Given the description of an element on the screen output the (x, y) to click on. 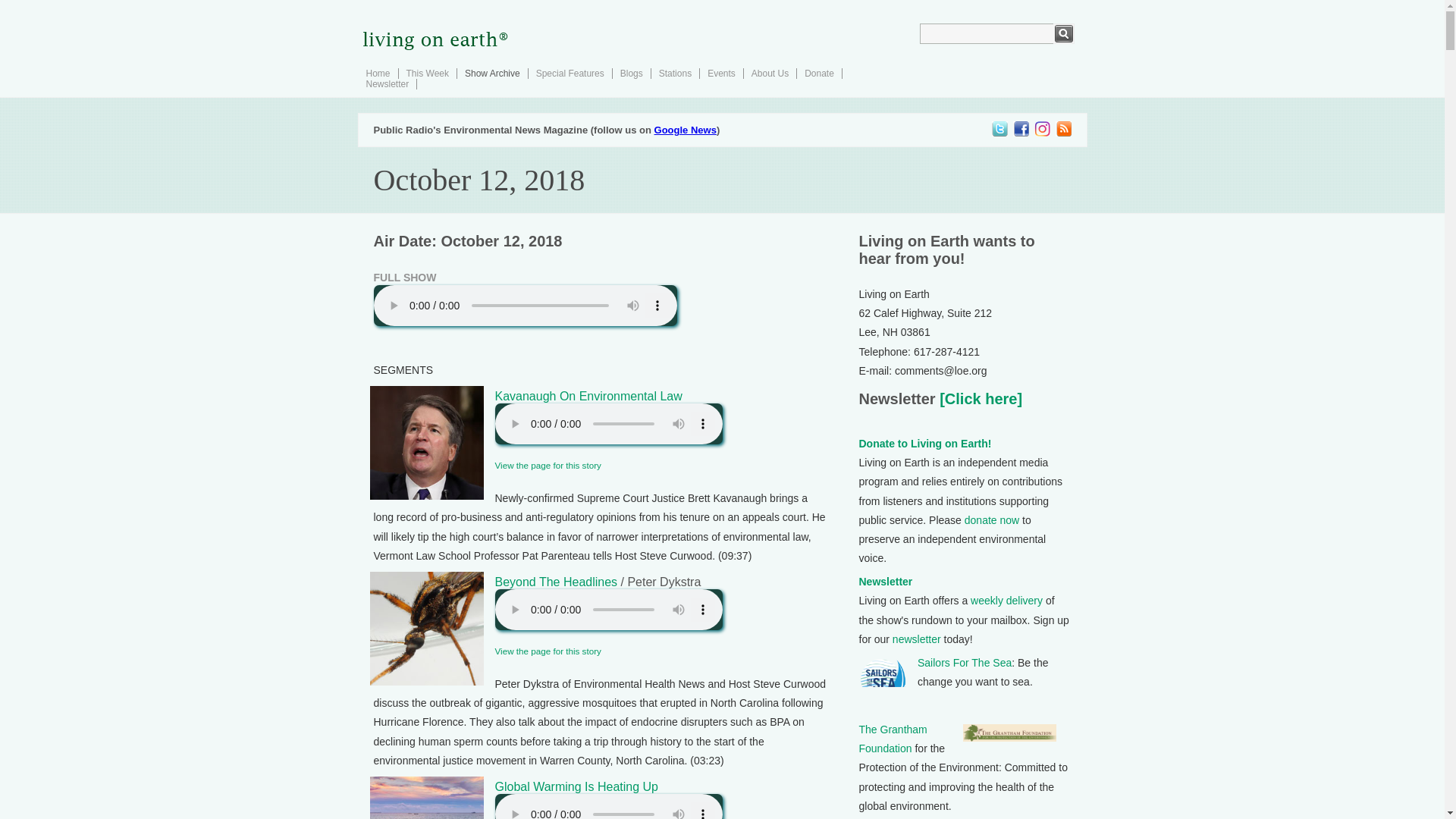
Google News (684, 129)
Beyond The Headlines (556, 581)
Global Warming Is Heating Up (576, 786)
Newsletter (387, 83)
About Us (770, 72)
This Week (427, 72)
Show Archive (491, 72)
Donate (819, 72)
Stations (675, 72)
Events (721, 72)
